Given the description of an element on the screen output the (x, y) to click on. 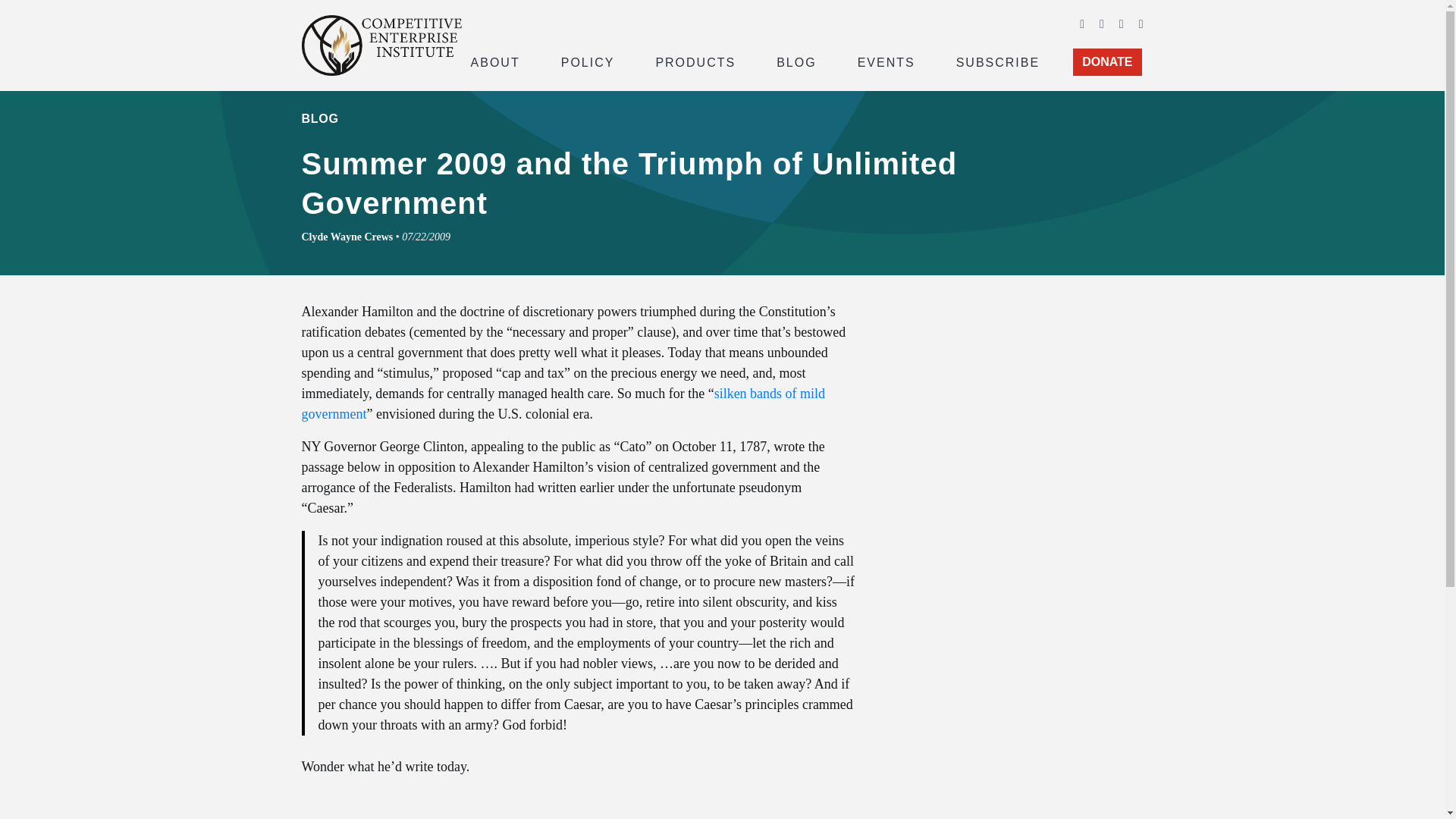
ABOUT (495, 61)
BLOG (796, 61)
SUBSCRIBE (997, 61)
DONATE (1107, 62)
POLICY (588, 61)
PRODUCTS (694, 61)
EVENTS (886, 61)
